Given the description of an element on the screen output the (x, y) to click on. 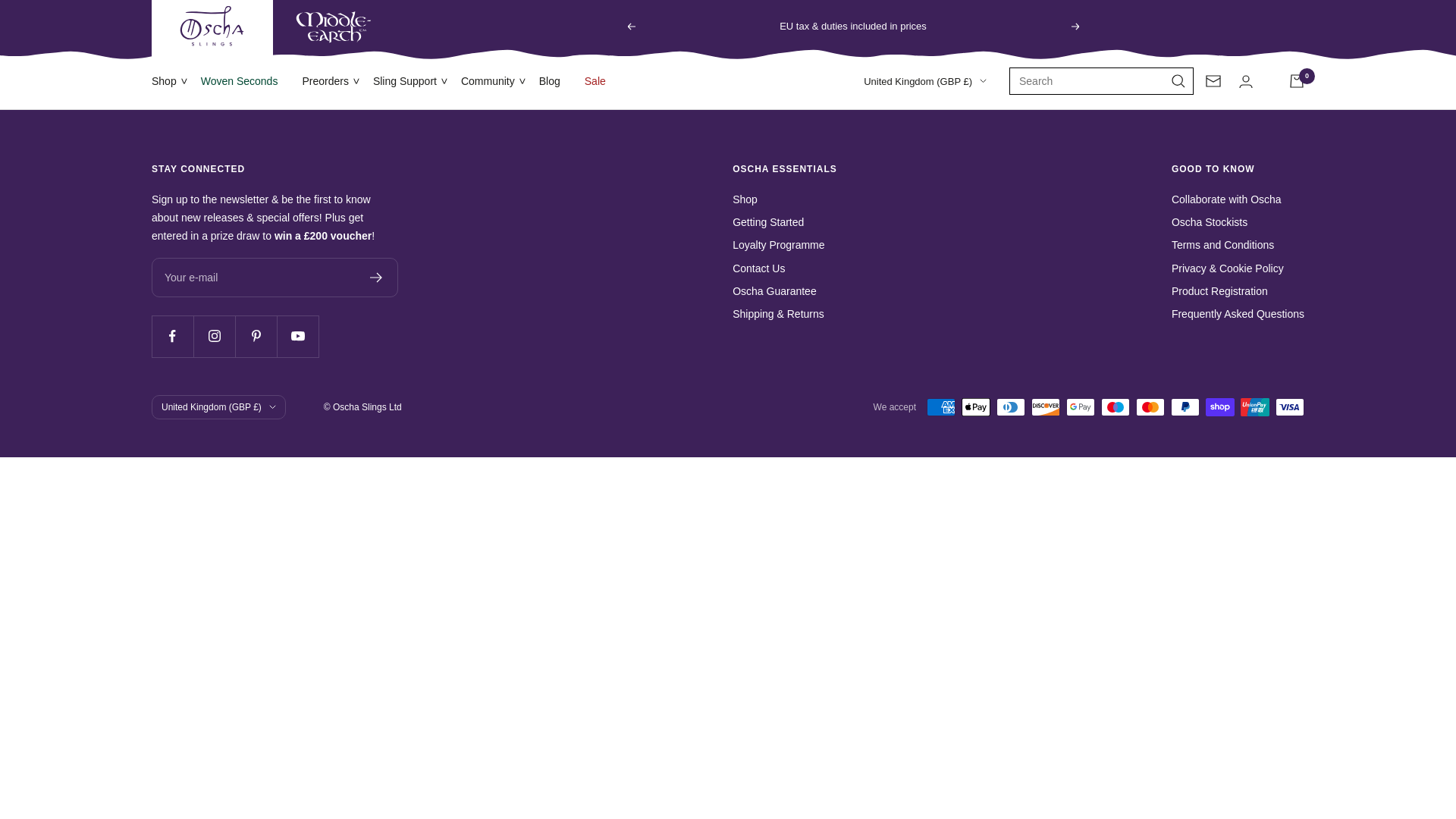
Blog (549, 81)
BE (889, 203)
CY (889, 345)
BG (889, 249)
Next (1075, 26)
CN (889, 298)
Sling Support (404, 81)
Community (488, 81)
AD (889, 131)
AT (889, 179)
